Given the description of an element on the screen output the (x, y) to click on. 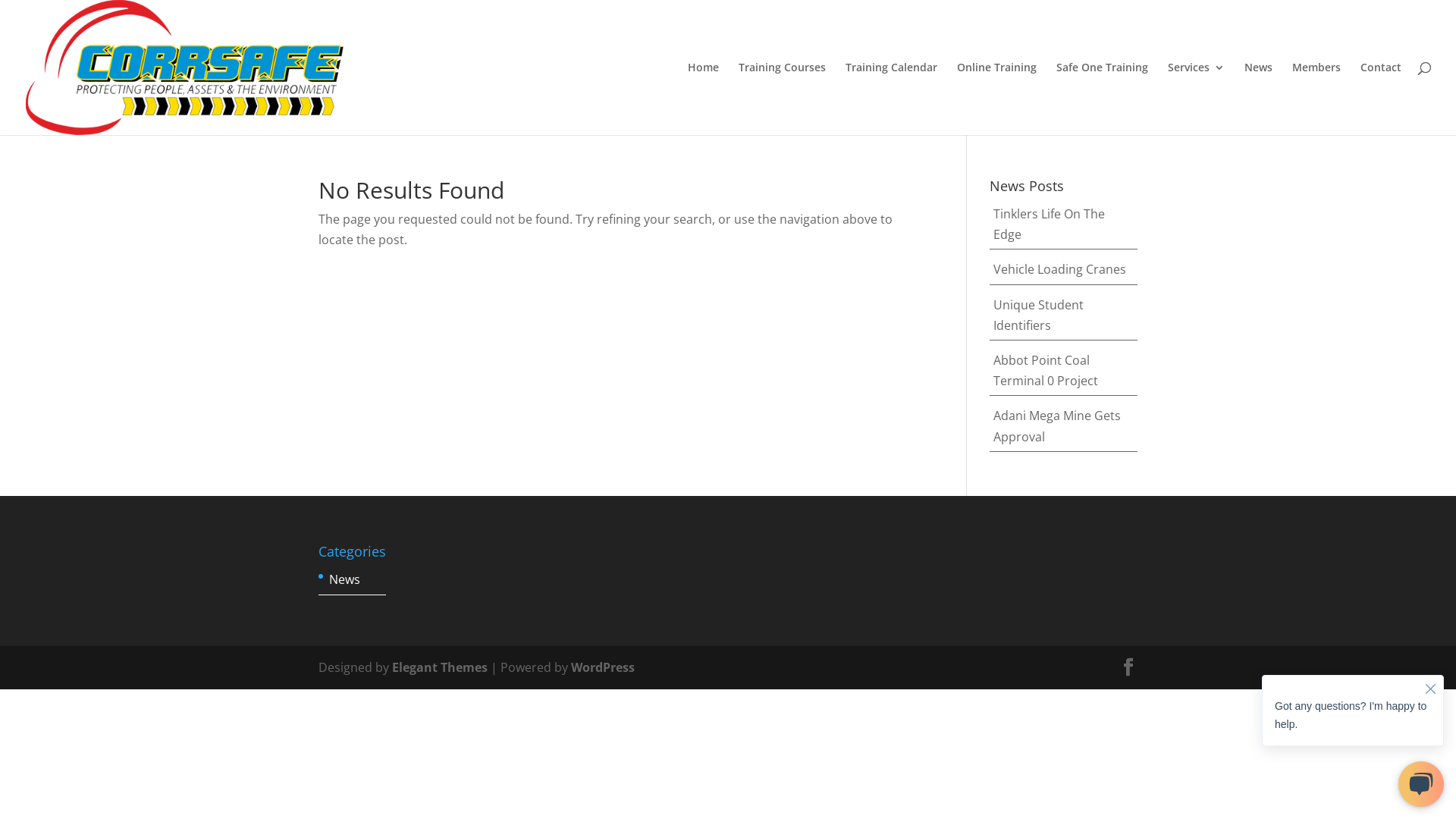
Elegant Themes Element type: text (439, 666)
Home Element type: text (702, 98)
News Element type: text (344, 579)
Training Calendar Element type: text (891, 98)
Vehicle Loading Cranes Element type: text (1059, 268)
Members Element type: text (1316, 98)
Safe One Training Element type: text (1102, 98)
Unique Student Identifiers Element type: text (1038, 314)
Abbot Point Coal Terminal 0 Project Element type: text (1045, 370)
Services Element type: text (1195, 98)
News Element type: text (1258, 98)
Tinklers Life On The Edge Element type: text (1048, 223)
Adani Mega Mine Gets Approval Element type: text (1056, 425)
Online Training Element type: text (996, 98)
Contact Element type: text (1380, 98)
WordPress Element type: text (602, 666)
Training Courses Element type: text (781, 98)
